Given the description of an element on the screen output the (x, y) to click on. 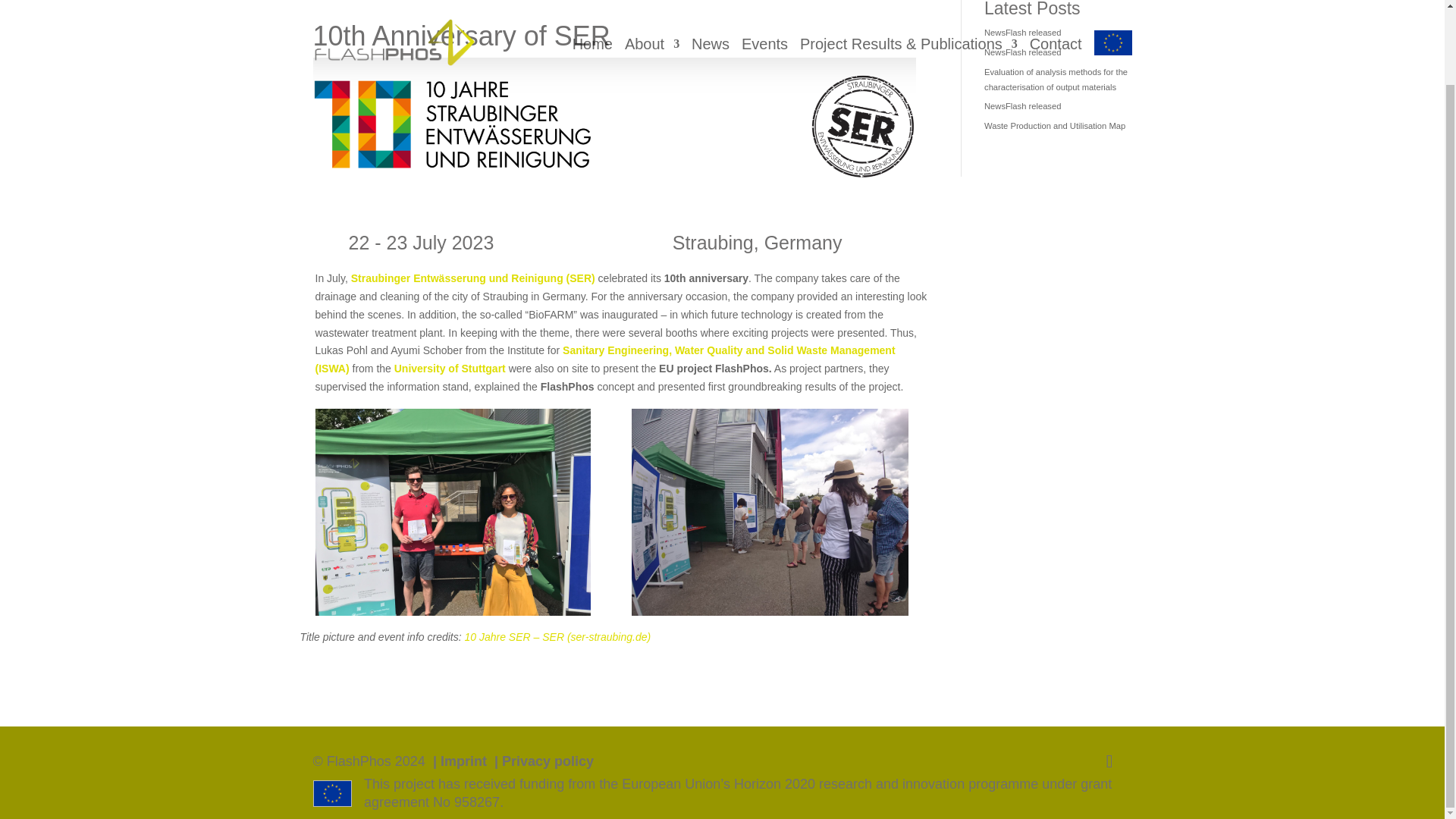
University of Stuttgart (449, 368)
NewsFlash released (1022, 105)
Imprint (463, 761)
Waste Production and Utilisation Map (1054, 125)
NewsFlash released (1022, 31)
NewsFlash released (1022, 51)
Privacy policy (548, 761)
